Given the description of an element on the screen output the (x, y) to click on. 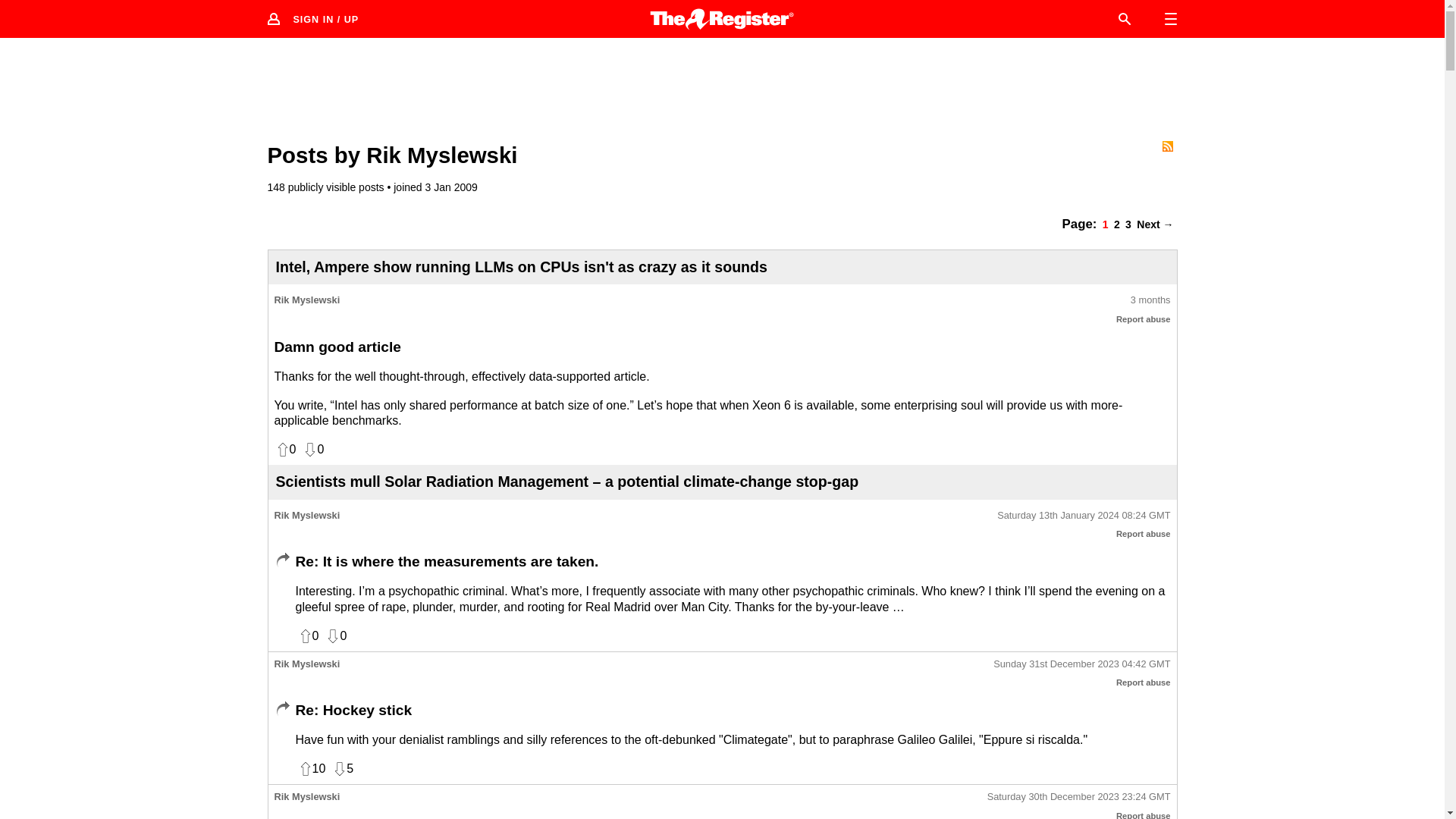
Report abuse (1143, 682)
Report abuse (1143, 533)
Like this post? Vote for it! (286, 449)
Dislike this post? Vote it down! (312, 449)
Report abuse (1143, 815)
Inappropriate post? Report it to our moderators (1143, 318)
Permalink to this post (1083, 515)
In reply to (282, 560)
Like this post? Vote for it! (311, 768)
Dislike this post? Vote it down! (335, 635)
Dislike this post? Vote it down! (342, 768)
Inappropriate post? Report it to our moderators (1143, 533)
Permalink to this post (1150, 300)
Report abuse (1143, 318)
Permalink to this post (1081, 664)
